Given the description of an element on the screen output the (x, y) to click on. 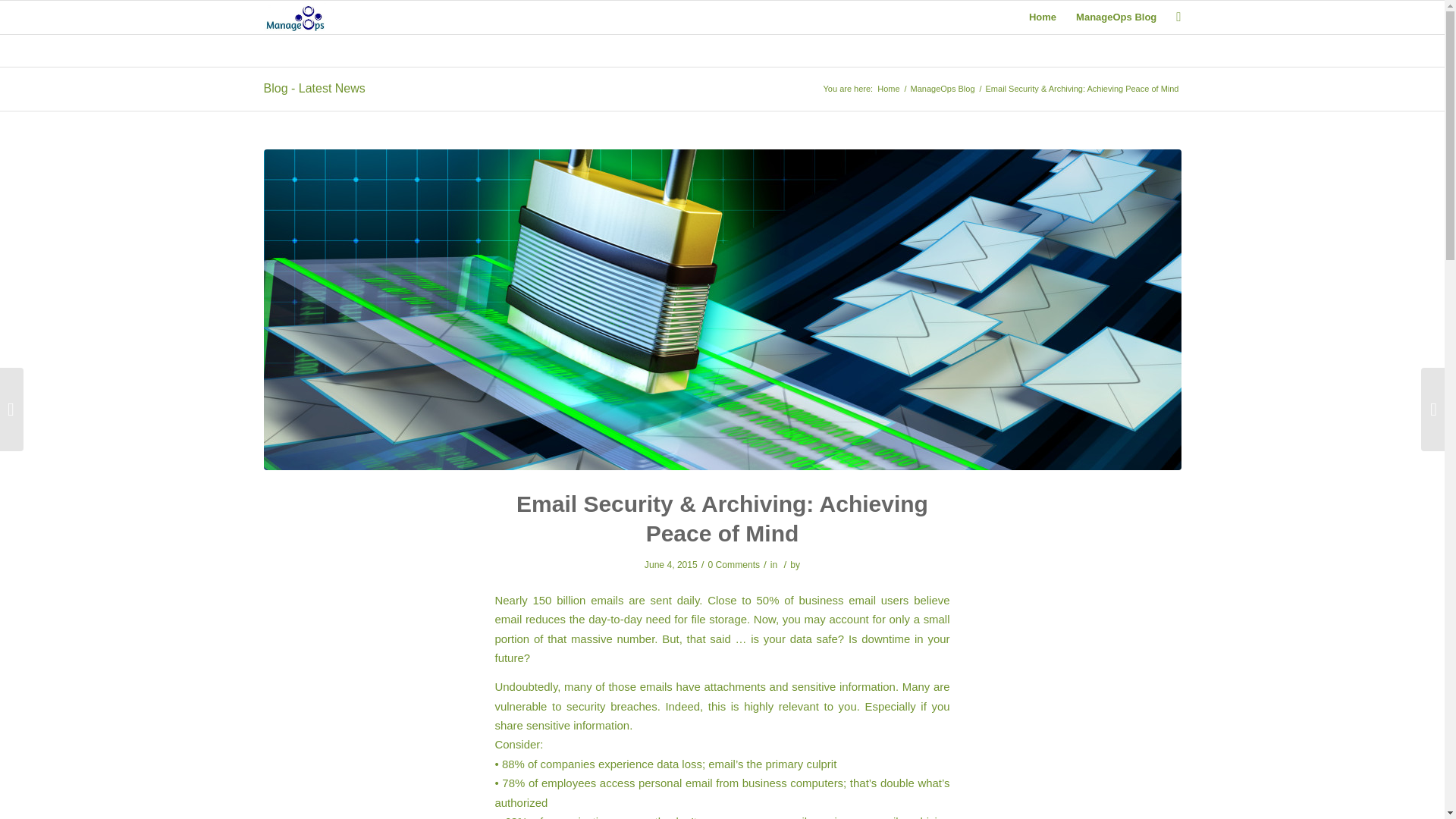
ManageOps (888, 89)
Home (1042, 17)
Blog - Latest News (314, 88)
ManageOps Blog (1115, 17)
ManageOps Blog (942, 89)
0 Comments (733, 564)
Permanent Link: Blog - Latest News (314, 88)
Home (888, 89)
ManageOps Blog (942, 89)
